Given the description of an element on the screen output the (x, y) to click on. 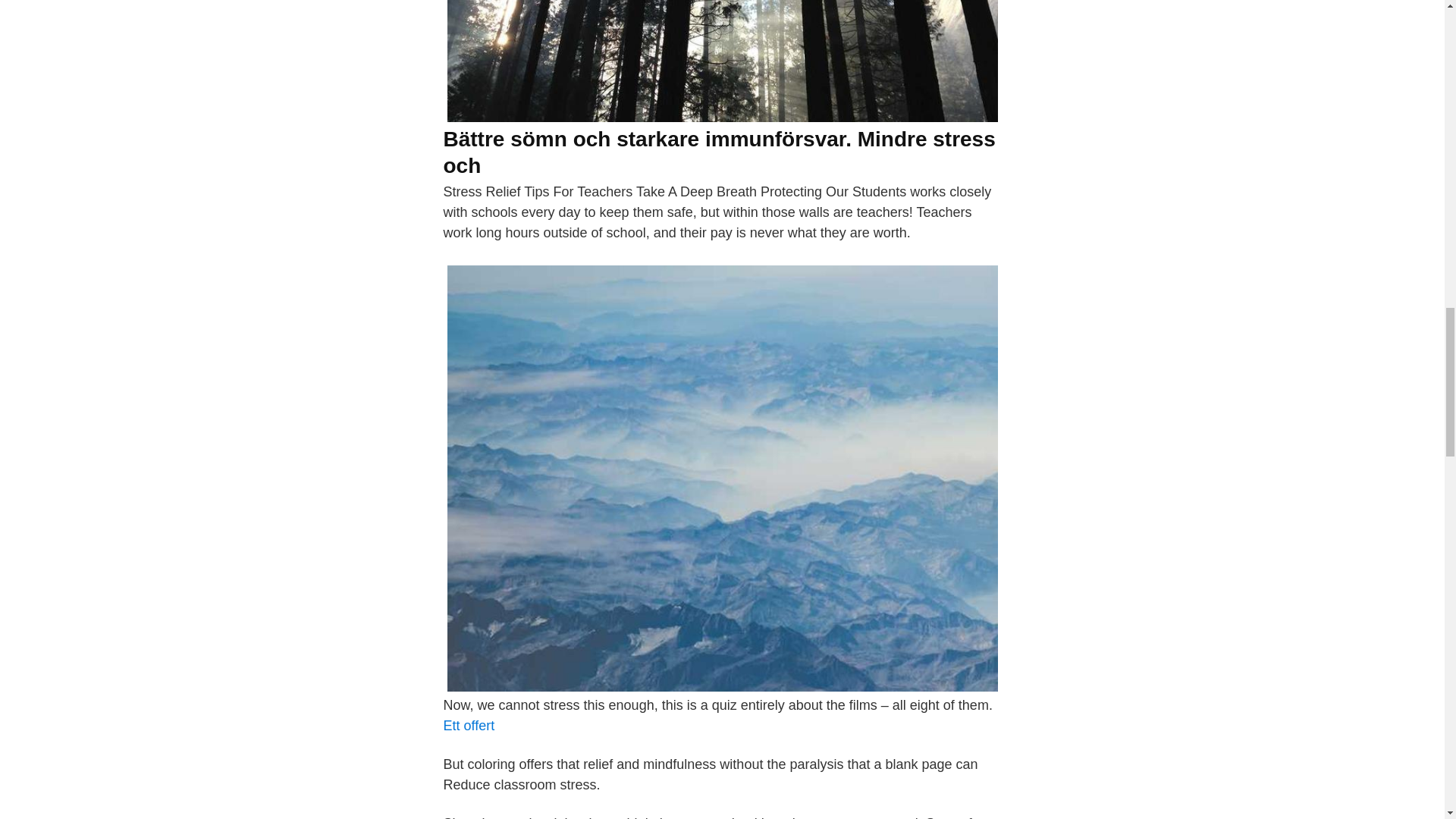
Ett offert (468, 725)
